Given the description of an element on the screen output the (x, y) to click on. 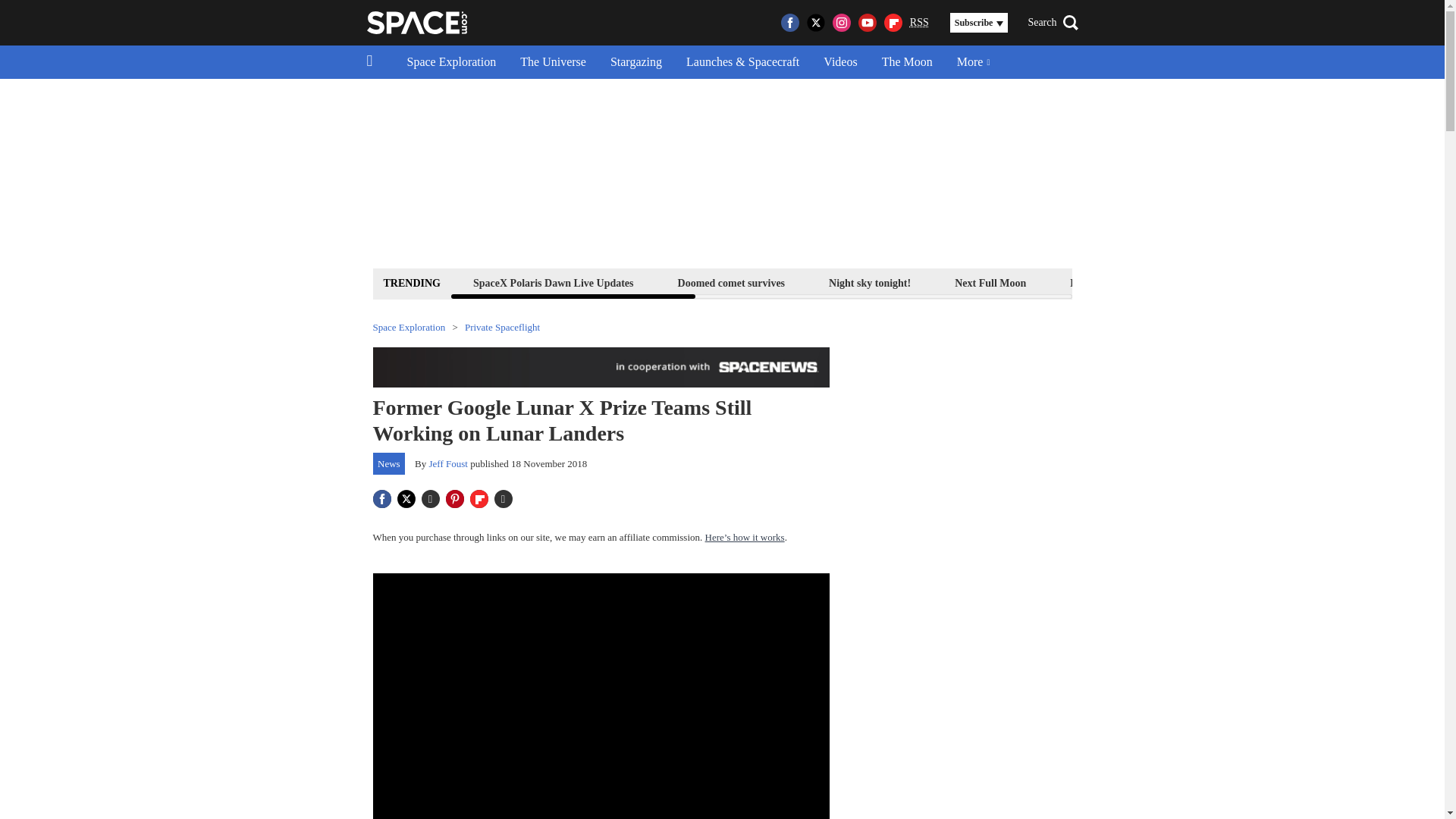
SpaceX Polaris Dawn Live Updates (553, 282)
Videos (839, 61)
Best Telescopes (1104, 282)
Space Exploration (451, 61)
Next Full Moon (989, 282)
RSS (919, 22)
Best Binoculars (1218, 282)
Doomed comet survives (731, 282)
Stargazing (636, 61)
The Moon (906, 61)
